Given the description of an element on the screen output the (x, y) to click on. 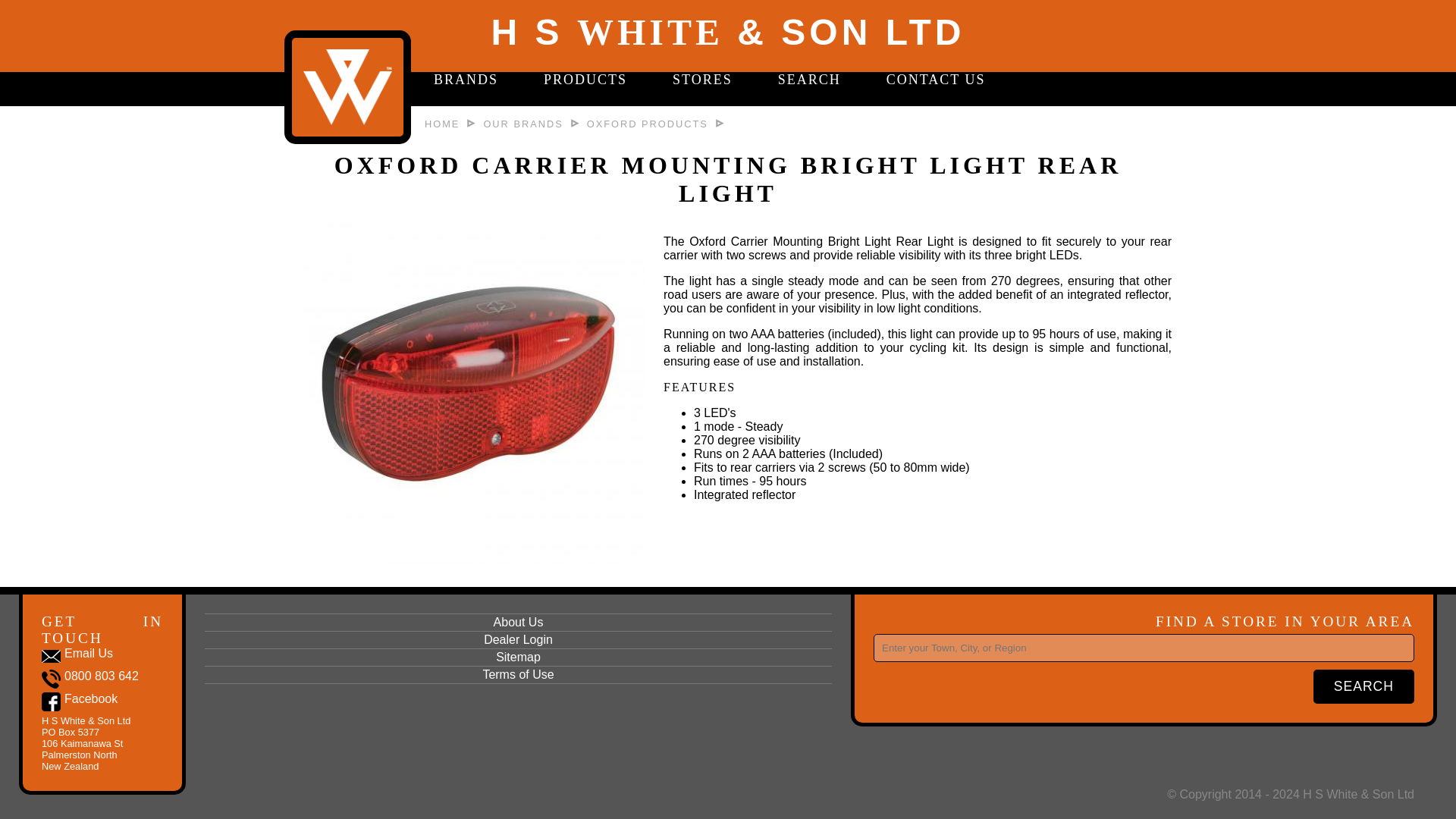
HOME (442, 123)
About Us (518, 622)
OXFORD PRODUCTS (646, 123)
SEARCH (809, 79)
Search (1363, 686)
PRODUCTS (585, 79)
Dealer Login (518, 640)
STORES (702, 79)
Email Us (77, 658)
Sitemap (518, 657)
Terms of Use (518, 674)
CONTACT US (936, 79)
Facebook (79, 703)
OUR BRANDS (522, 123)
BRANDS (465, 79)
